Given the description of an element on the screen output the (x, y) to click on. 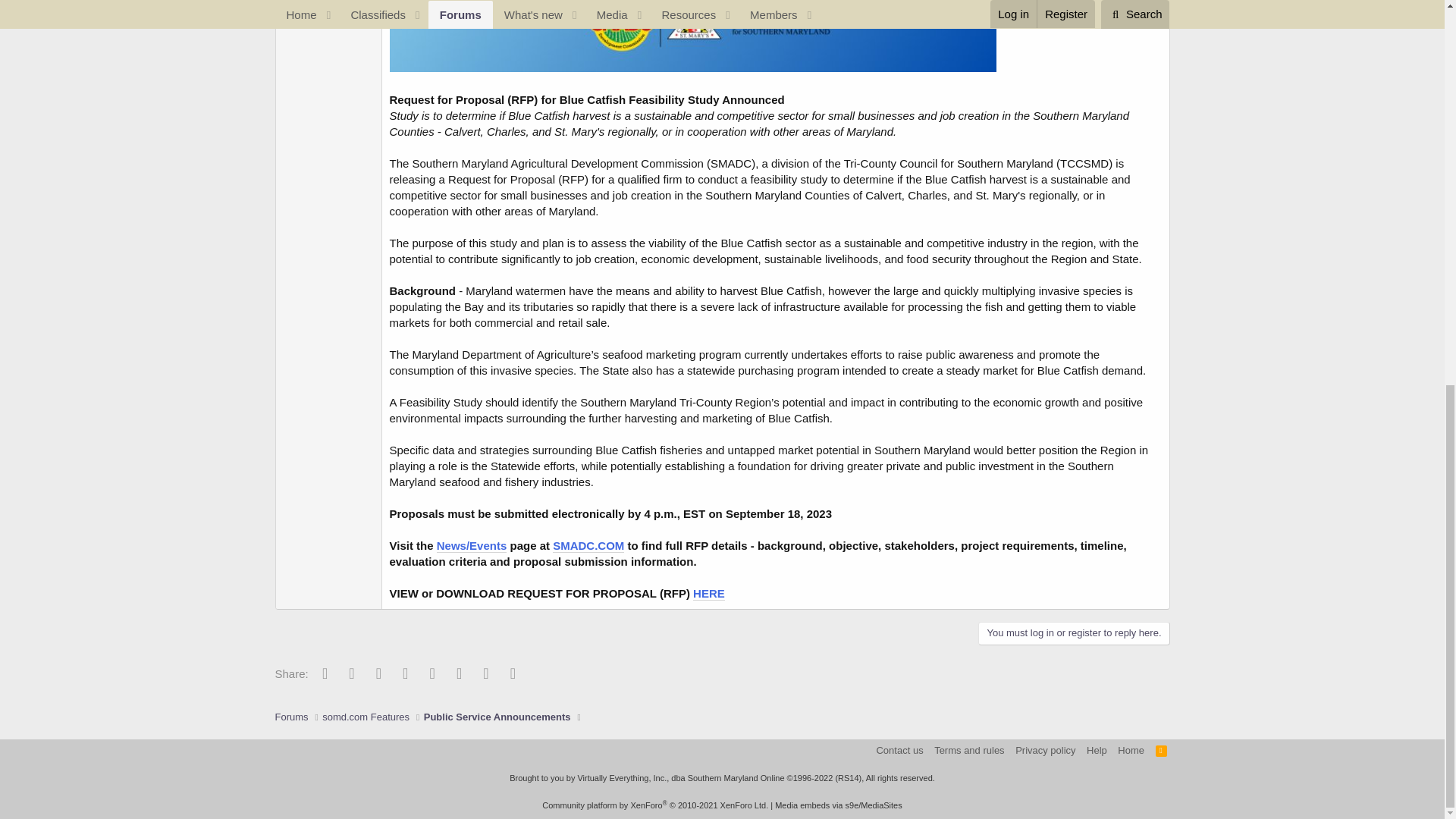
a9aab3ea-eddc-fcc6-ca1e-264574160763.jpg (692, 36)
a9aab3ea-eddc-fcc6-ca1e-264574160763.jpg (692, 38)
RSS (1161, 749)
